Given the description of an element on the screen output the (x, y) to click on. 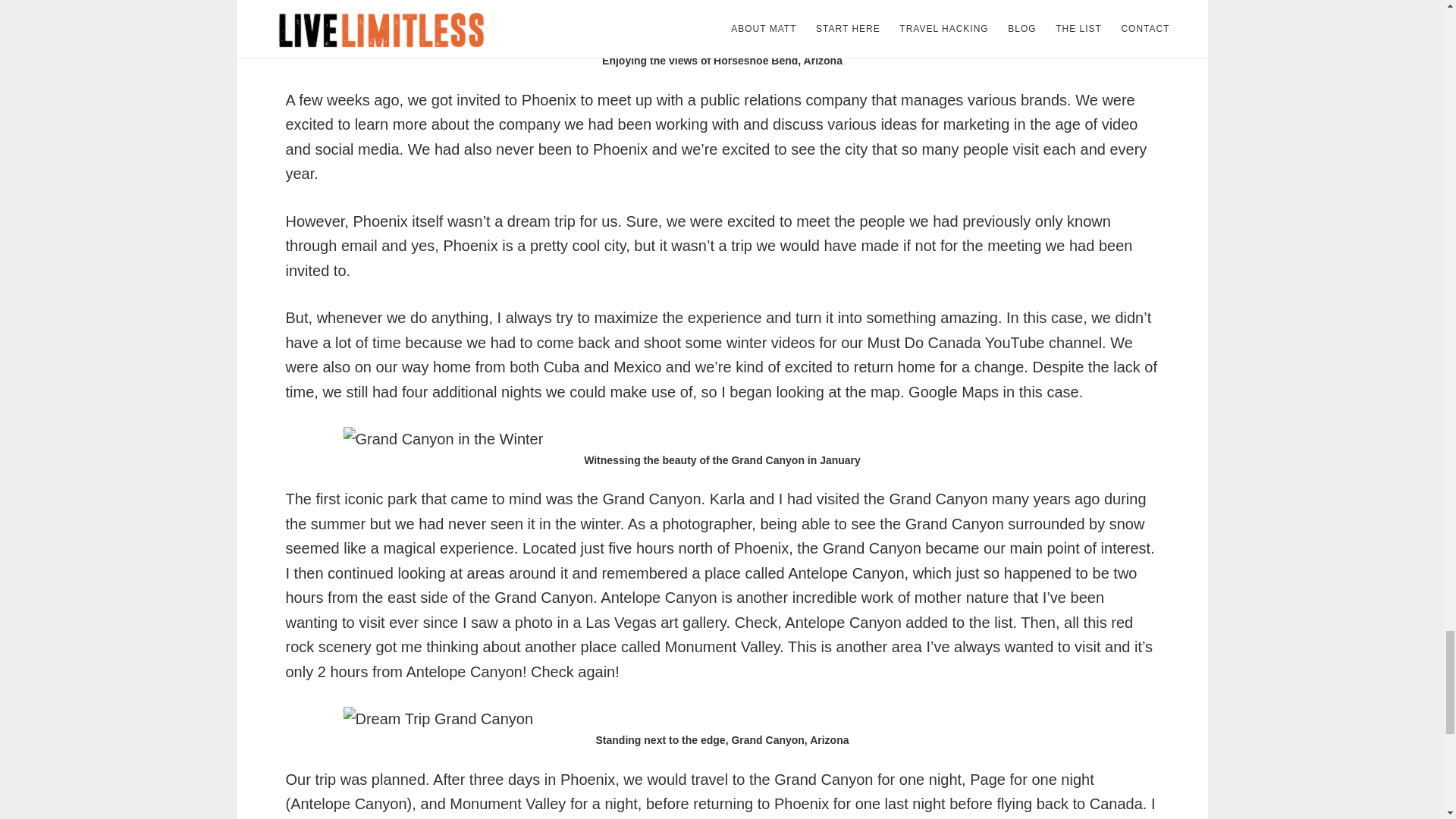
MATT (310, 3)
